Given the description of an element on the screen output the (x, y) to click on. 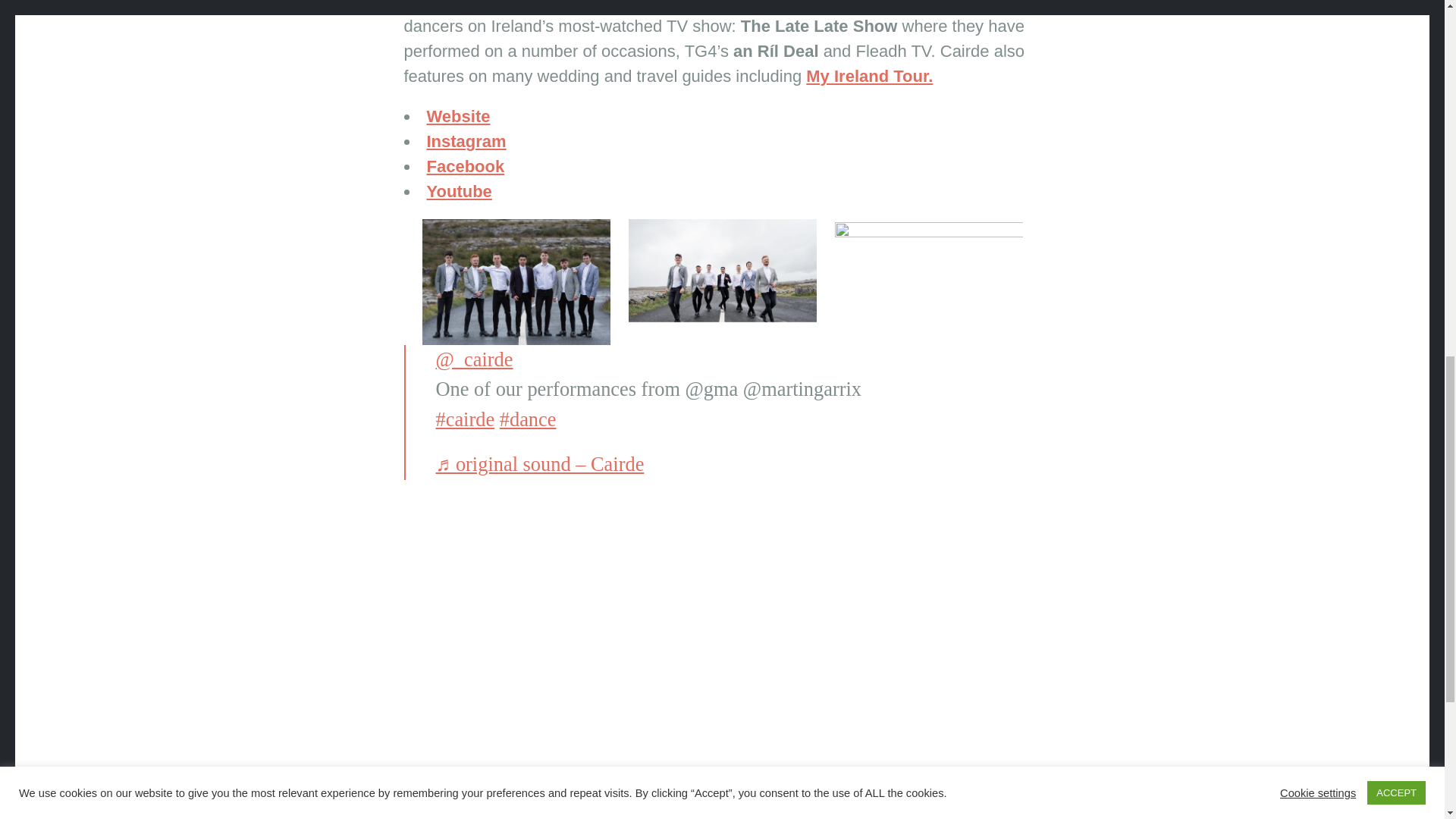
dance (527, 418)
Youtube (459, 190)
Instagram (465, 140)
My Ireland Tour. (869, 75)
cairde (465, 418)
Facebook (464, 166)
Website (457, 116)
